Given the description of an element on the screen output the (x, y) to click on. 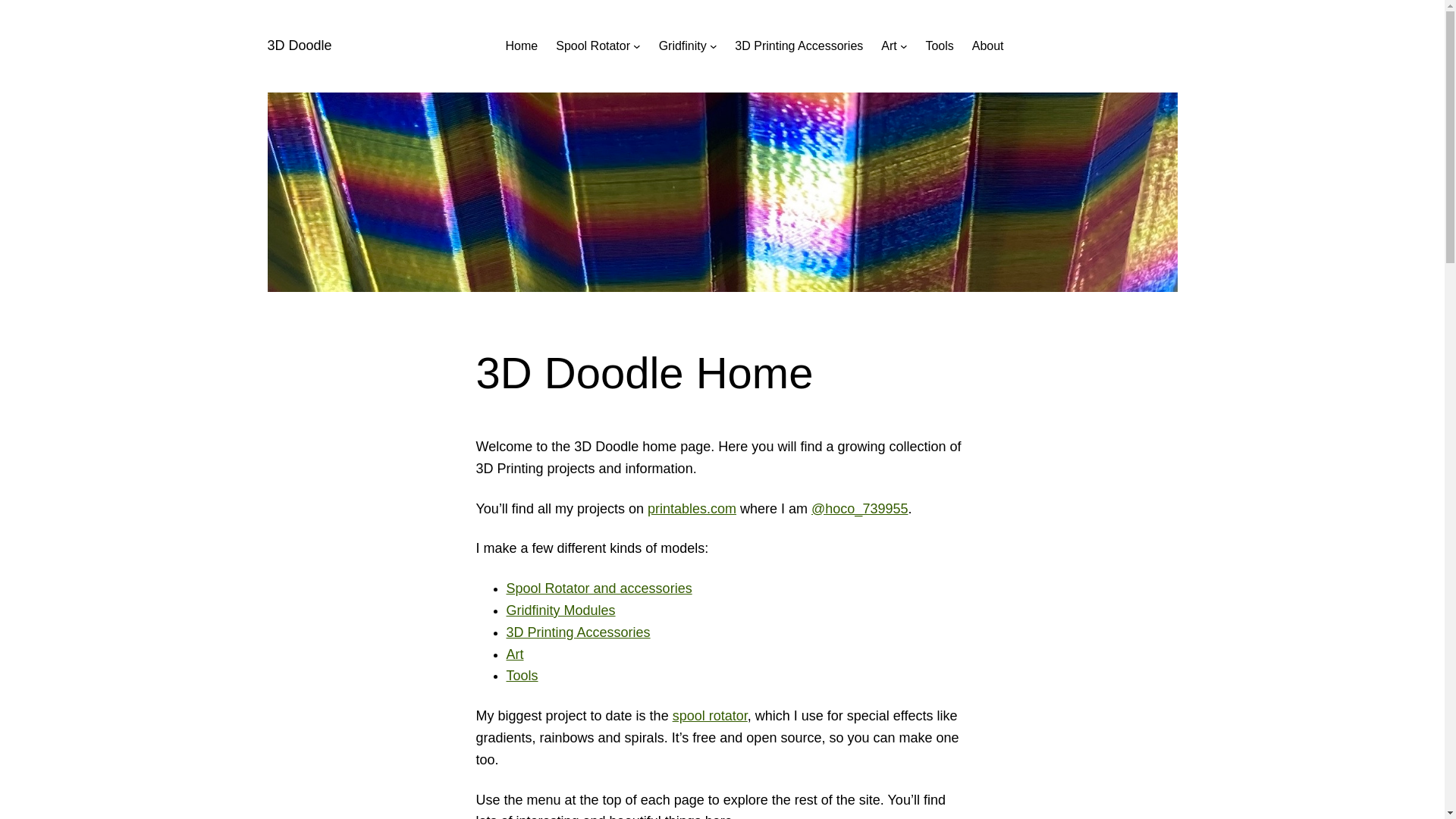
Spool Rotator and accessories Element type: text (599, 588)
3D Doodle Element type: text (298, 45)
Art Element type: text (515, 654)
Tools Element type: text (522, 675)
Gridfinity Modules Element type: text (560, 610)
Art Element type: text (888, 46)
Gridfinity Element type: text (682, 46)
printables.com Element type: text (691, 508)
3D Printing Accessories Element type: text (578, 632)
3D Printing Accessories Element type: text (798, 46)
Home Element type: text (521, 46)
About Element type: text (988, 46)
@hoco_739955 Element type: text (859, 508)
spool rotator Element type: text (709, 715)
Tools Element type: text (939, 46)
Spool Rotator Element type: text (592, 46)
